Given the description of an element on the screen output the (x, y) to click on. 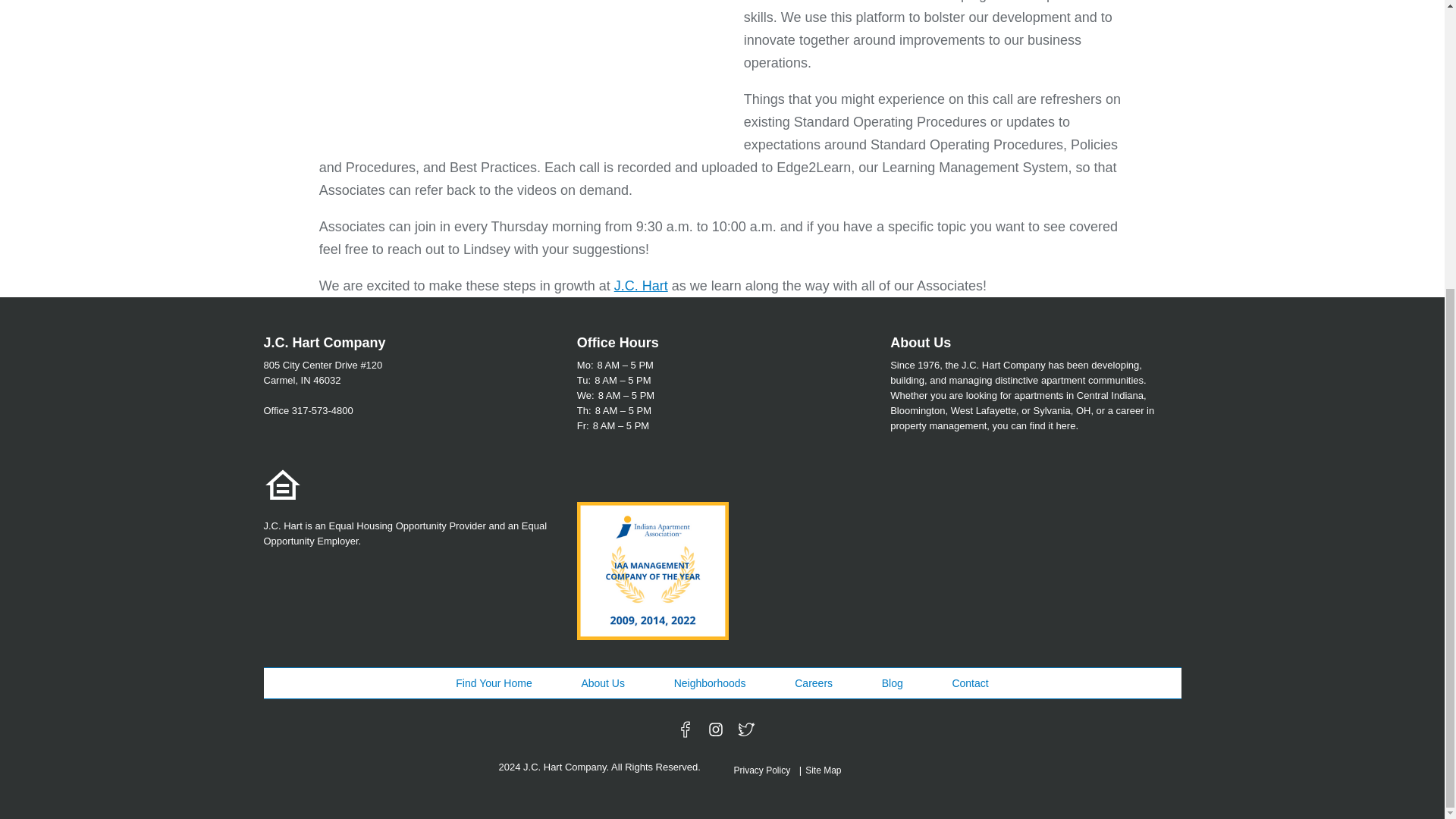
Follow us on Twitter (746, 729)
Like us on Facebook (685, 729)
Follow us on Instagram (715, 729)
